Given the description of an element on the screen output the (x, y) to click on. 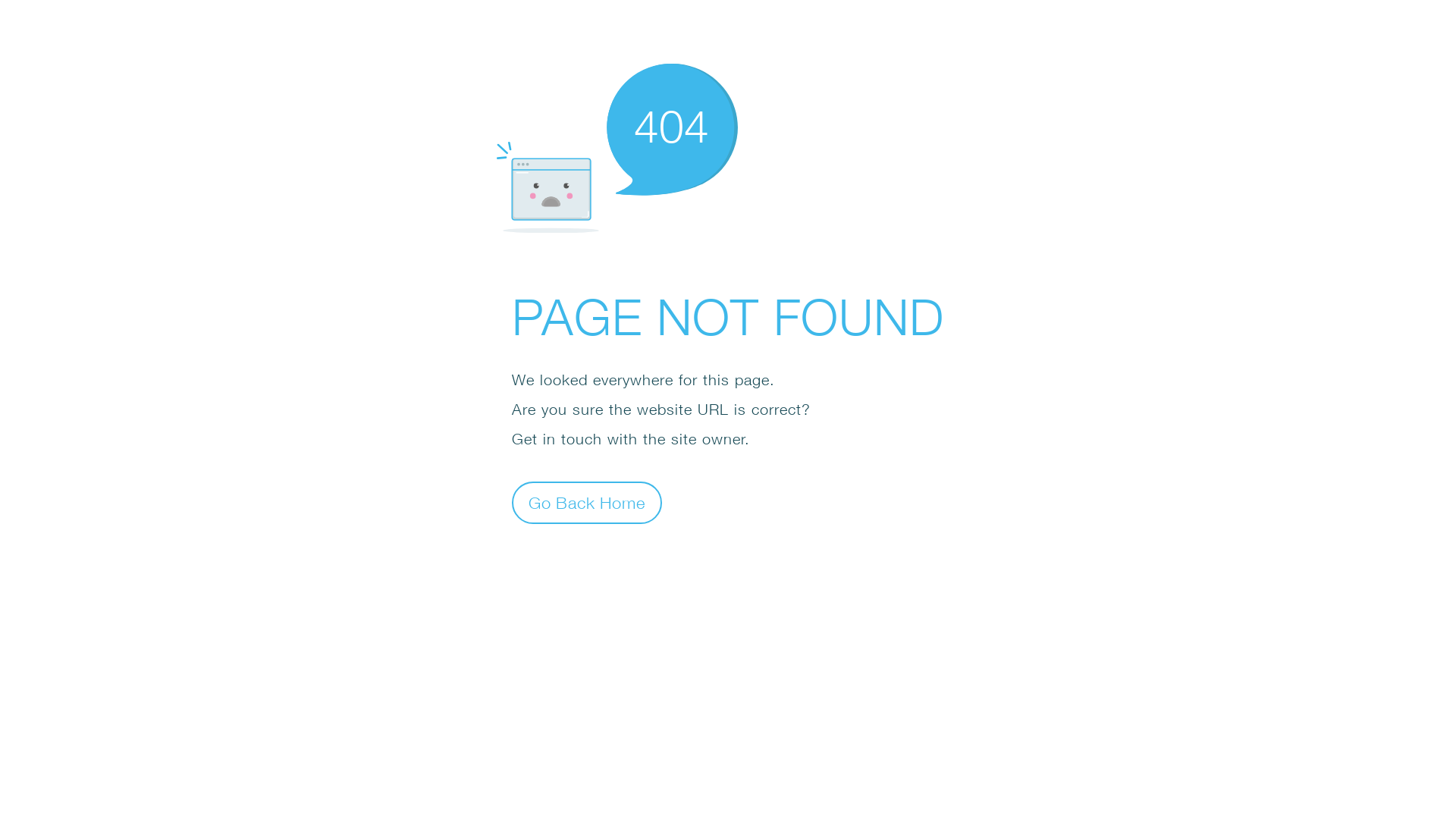
Go Back Home Element type: text (586, 502)
